Given the description of an element on the screen output the (x, y) to click on. 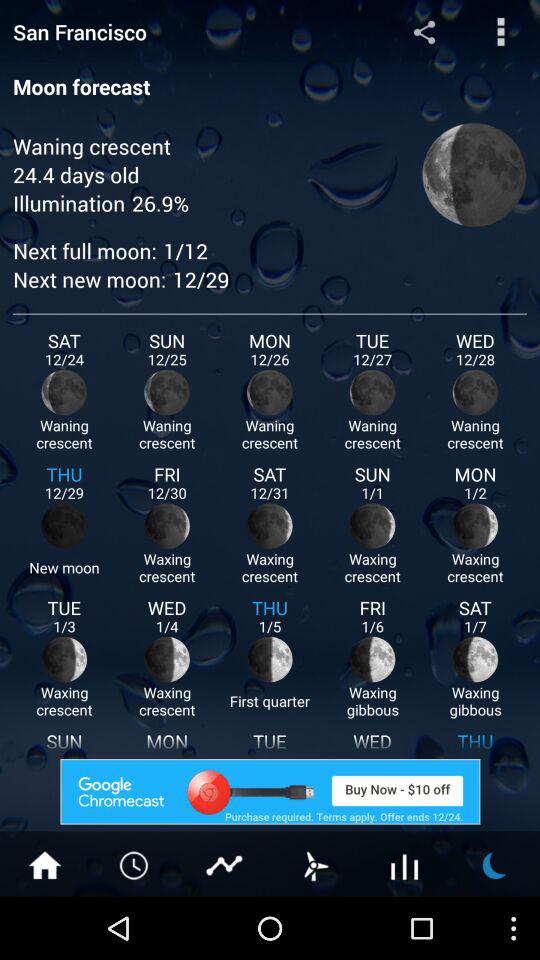
wind speed (315, 864)
